Given the description of an element on the screen output the (x, y) to click on. 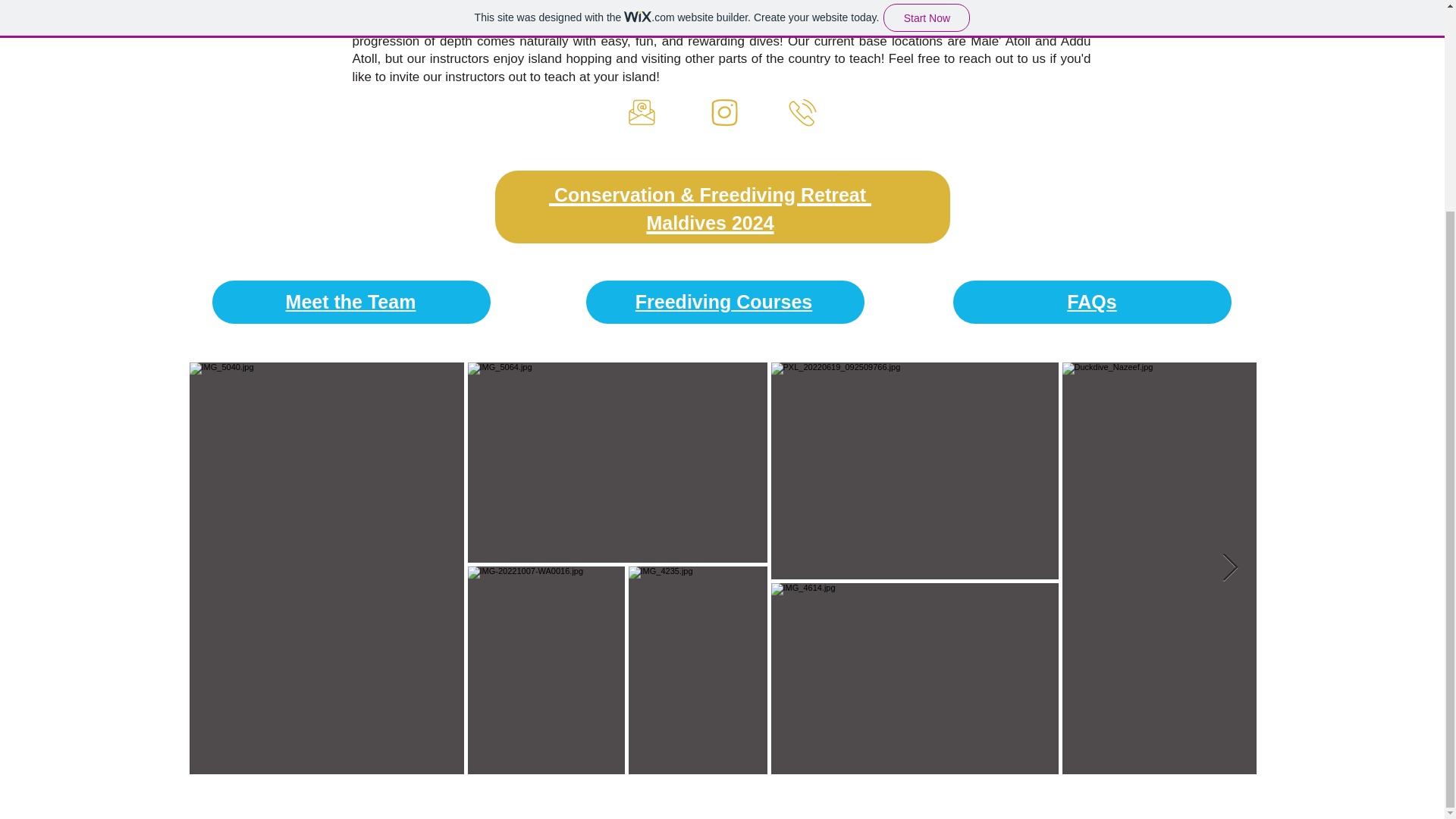
FAQs (1091, 301)
Meet the Team (350, 301)
Freediving Courses (723, 301)
Icons Default copy-1.png (641, 112)
